Given the description of an element on the screen output the (x, y) to click on. 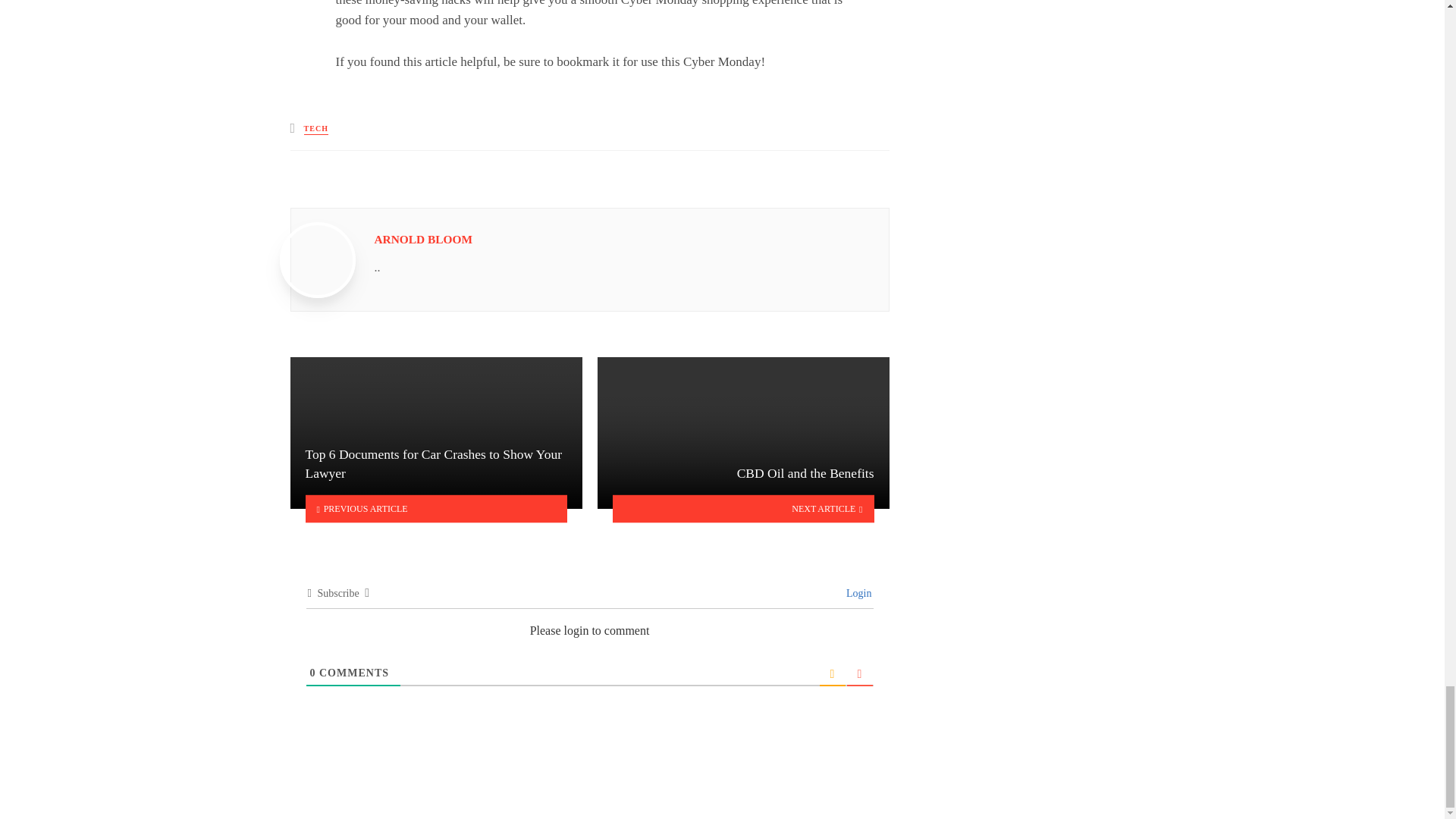
0 (311, 672)
Posts by Arnold Bloom (423, 238)
ARNOLD BLOOM (423, 238)
TECH (316, 129)
PREVIOUS ARTICLE (434, 508)
Login (857, 593)
NEXT ARTICLE (742, 508)
